Given the description of an element on the screen output the (x, y) to click on. 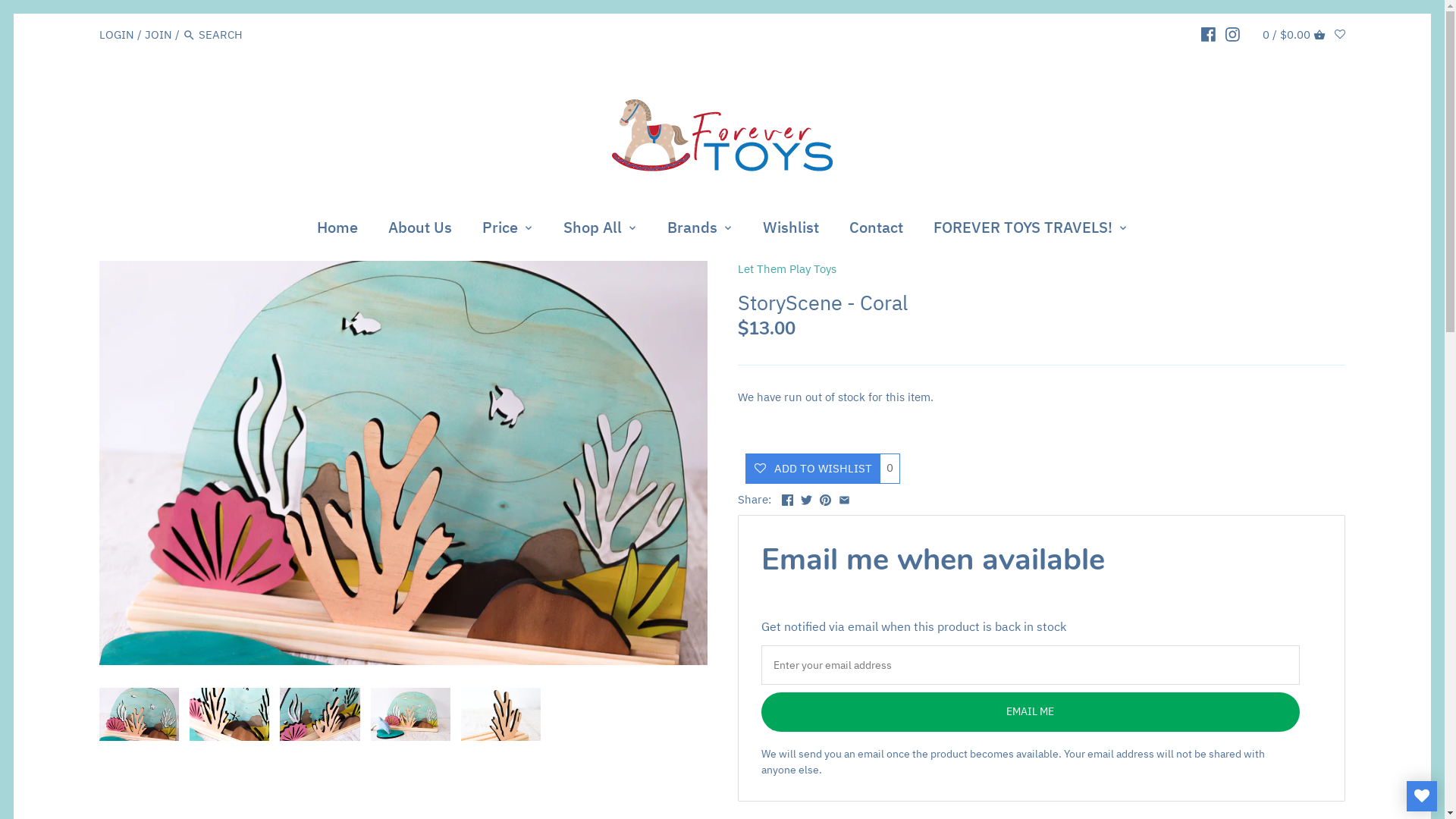
Twitter Element type: text (806, 497)
Home Element type: text (337, 229)
ADD TO WISHLIST Element type: text (811, 468)
EMAIL ME Element type: text (1030, 711)
MY WISHLIST Element type: text (1421, 796)
FACEBOOK Element type: text (1208, 33)
About Us Element type: text (420, 229)
Pinterest Element type: text (825, 497)
LOGIN Element type: text (116, 34)
Price Element type: text (500, 229)
Let Them Play Toys Element type: text (786, 267)
FOREVER TOYS TRAVELS! Element type: text (1022, 229)
Email Element type: text (844, 497)
Facebook Element type: text (787, 497)
JOIN Element type: text (158, 34)
Contact Element type: text (876, 229)
0 / $0.00 CART Element type: text (1293, 34)
Brands Element type: text (692, 229)
Search Element type: text (188, 35)
INSTAGRAM Element type: text (1232, 33)
Shop All Element type: text (592, 229)
Wishlist Element type: text (790, 229)
